Given the description of an element on the screen output the (x, y) to click on. 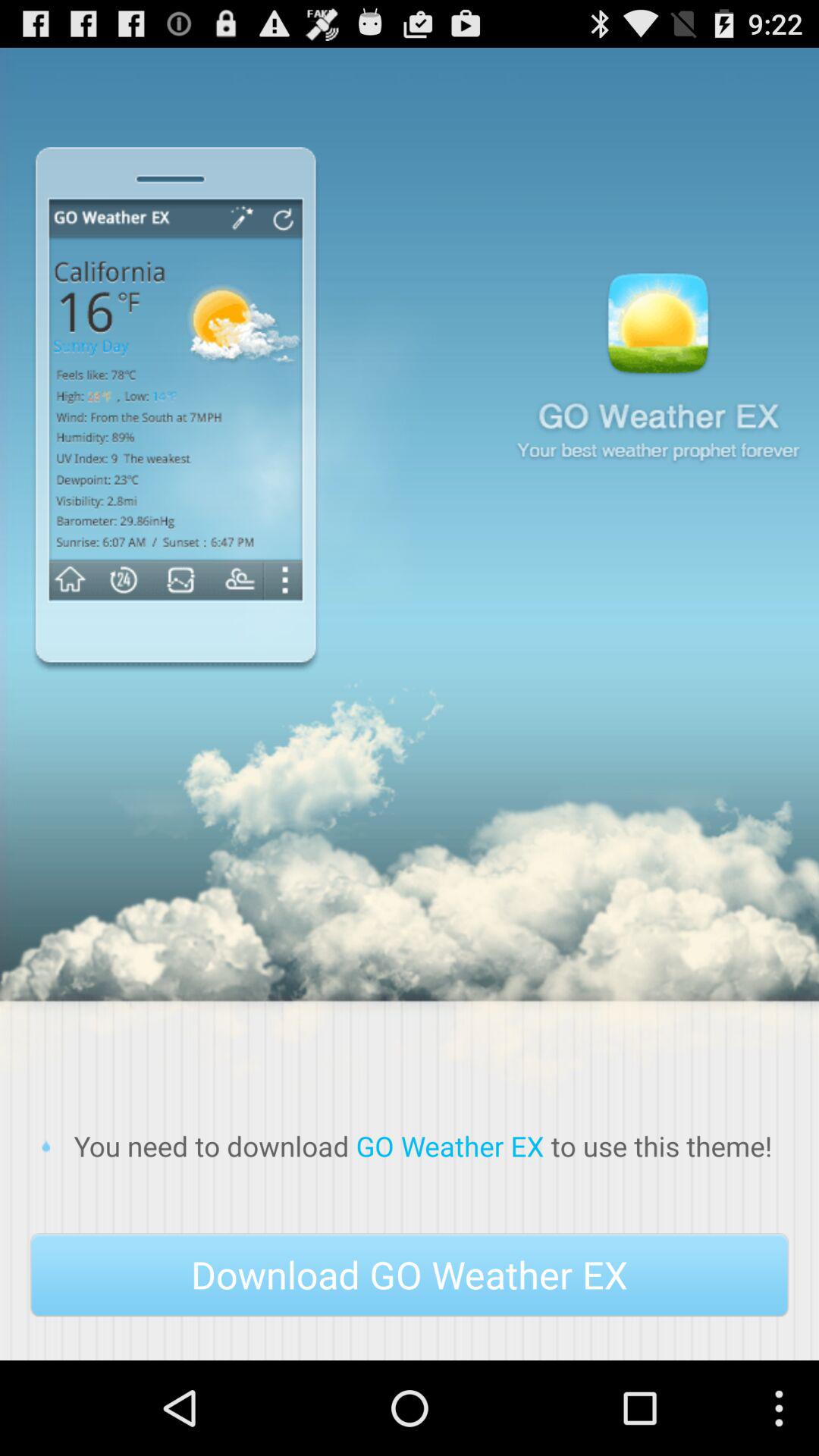
click on the field download go weather ex which is at the bottom of the page (409, 1274)
select the image on the right corner (656, 373)
